Given the description of an element on the screen output the (x, y) to click on. 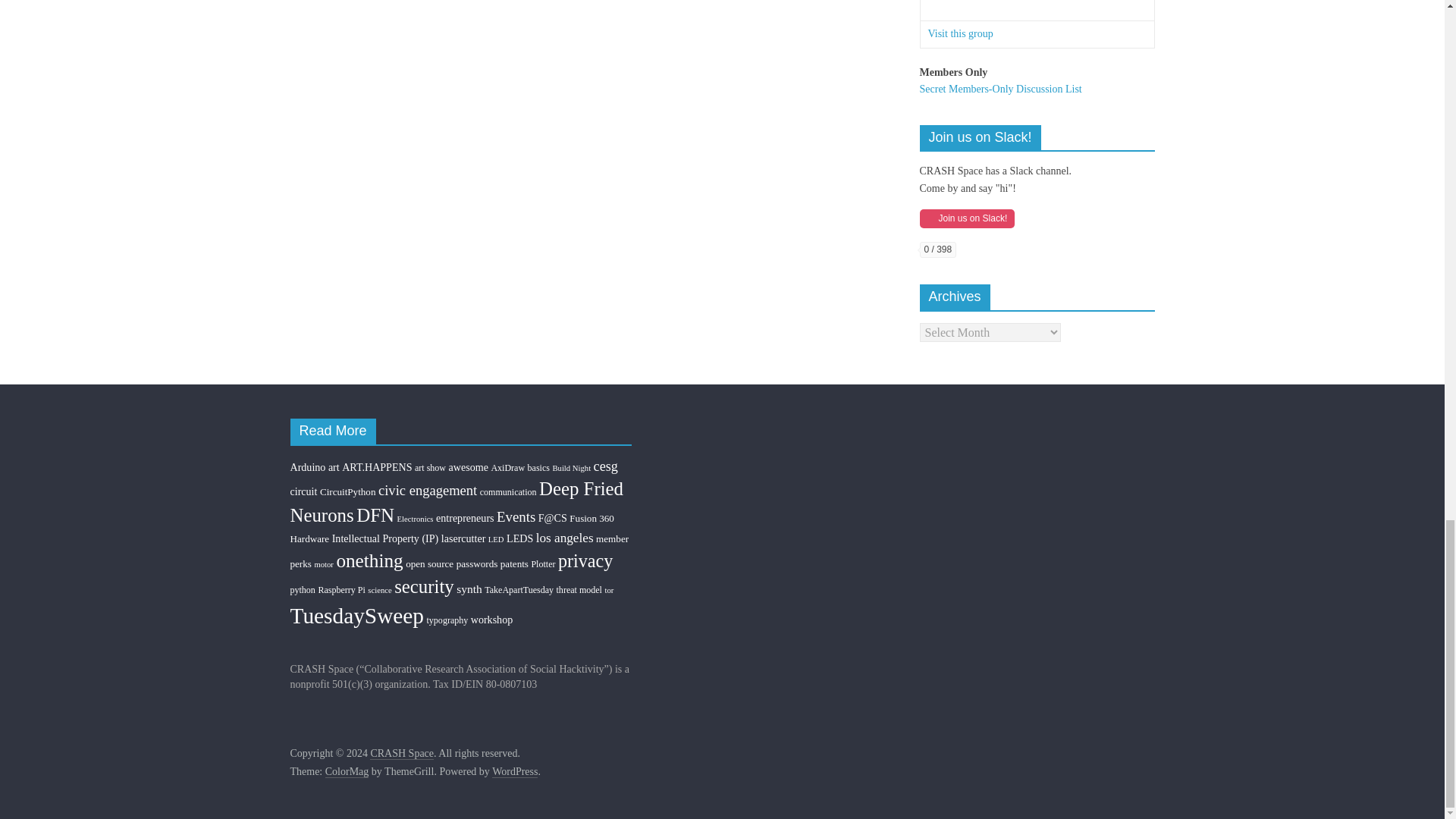
WordPress (514, 771)
ColorMag (346, 771)
CRASH Space (401, 753)
